Given the description of an element on the screen output the (x, y) to click on. 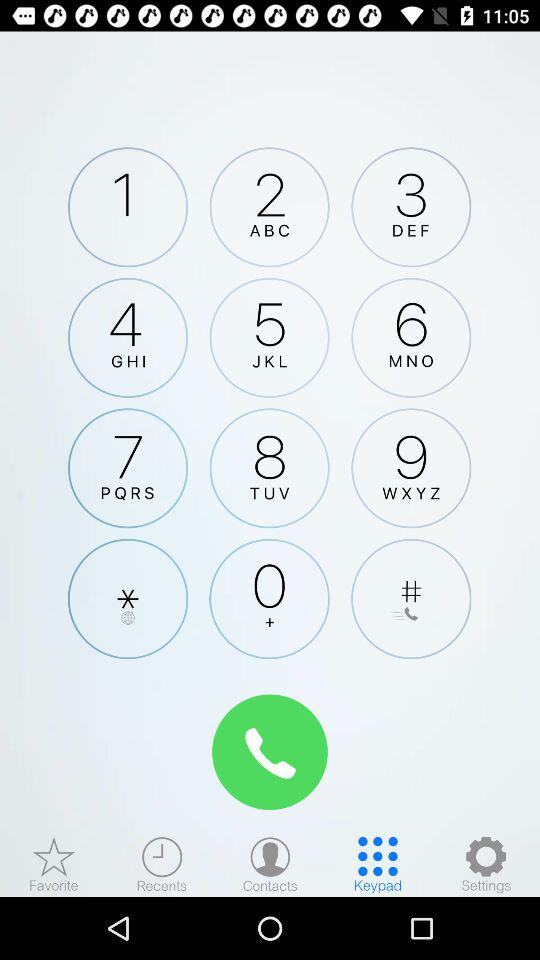
dial 2 on keypad (269, 207)
